Given the description of an element on the screen output the (x, y) to click on. 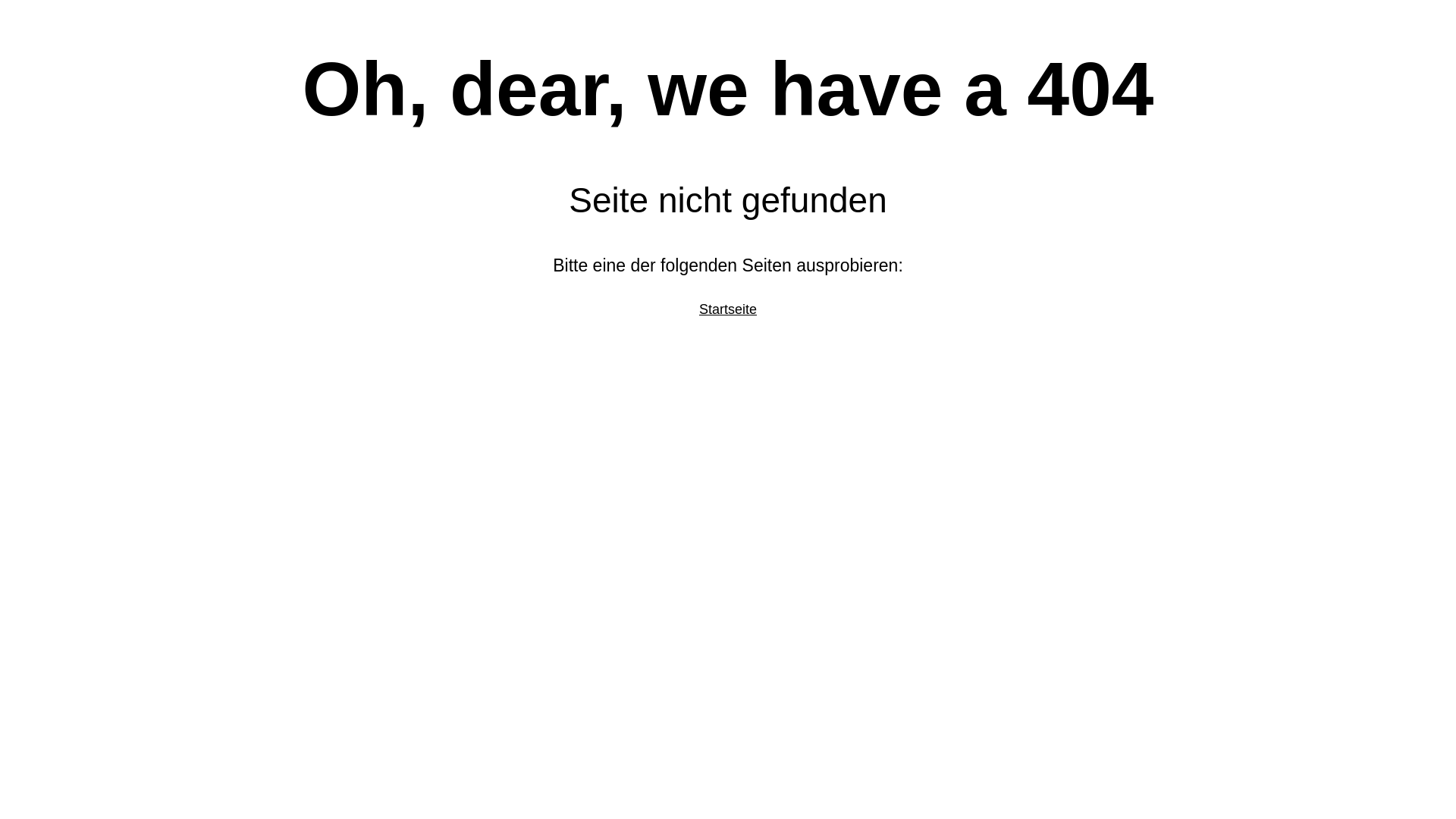
Startseite Element type: text (727, 308)
